Given the description of an element on the screen output the (x, y) to click on. 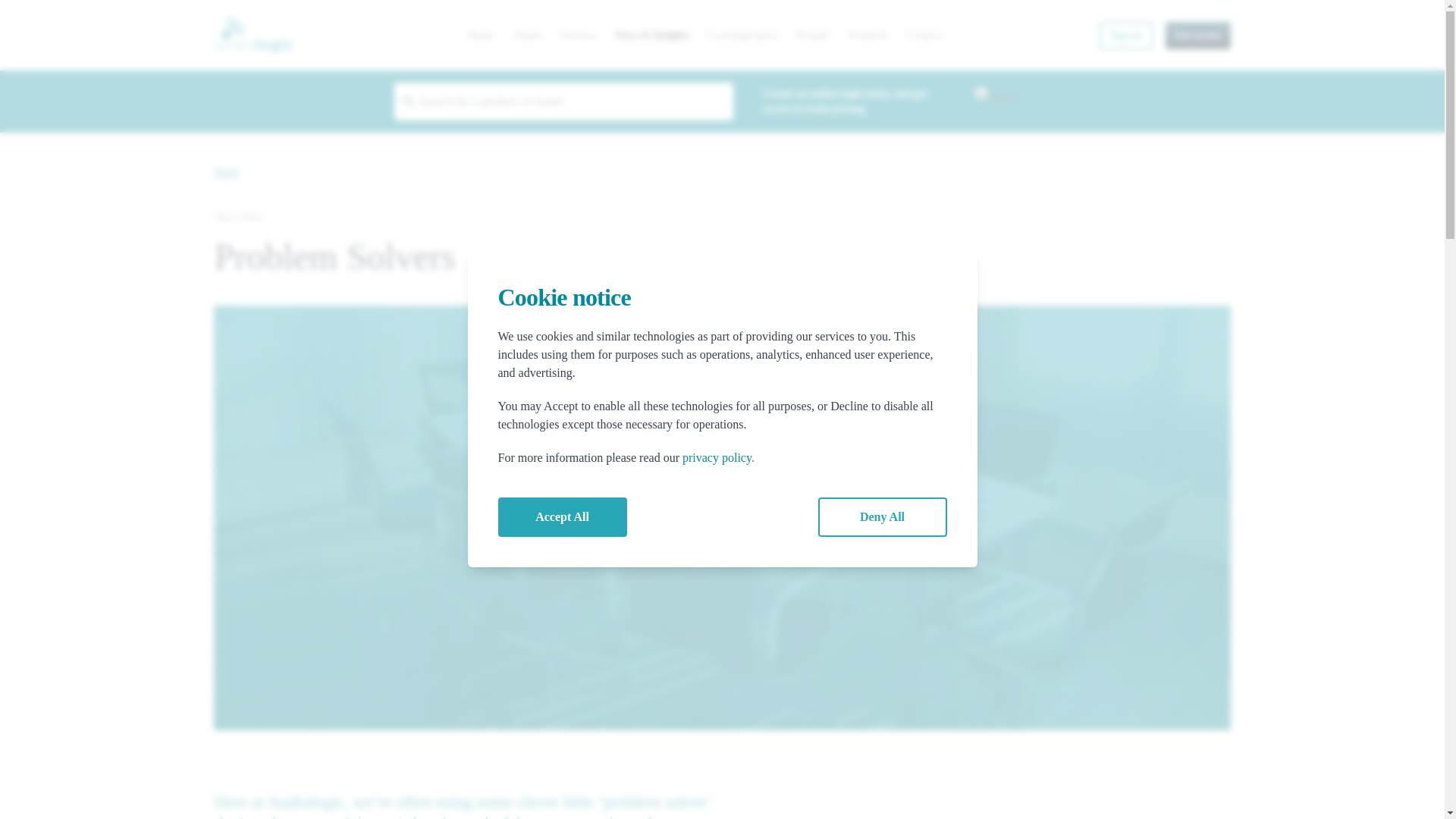
Contact (924, 34)
Audiologic (253, 35)
Services (577, 34)
Brands (812, 34)
Get access (1198, 34)
Back (226, 171)
Home (481, 34)
Products (867, 34)
Sign In (1126, 34)
About (527, 34)
